Given the description of an element on the screen output the (x, y) to click on. 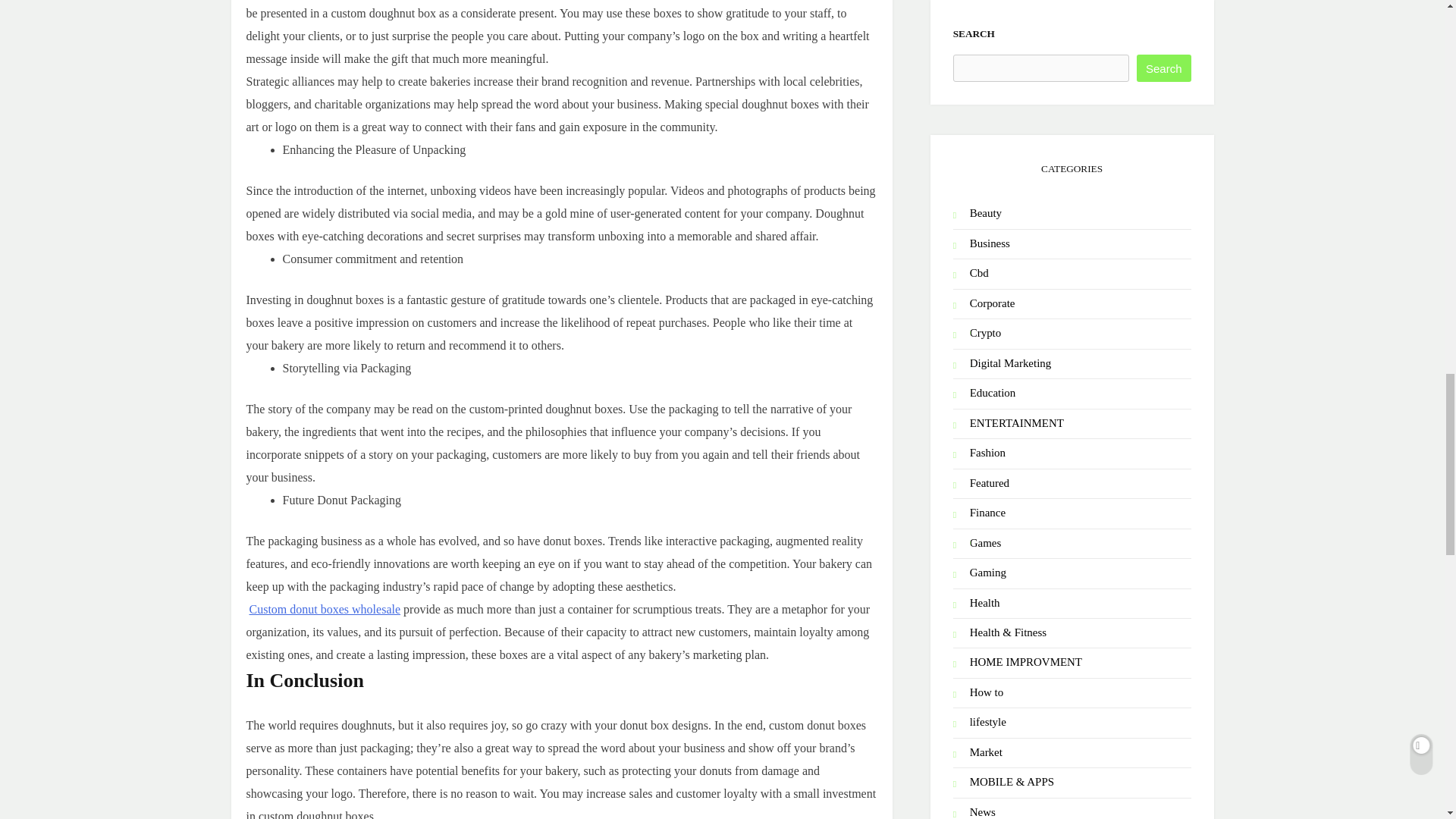
Custom donut boxes wholesale (324, 608)
